Given the description of an element on the screen output the (x, y) to click on. 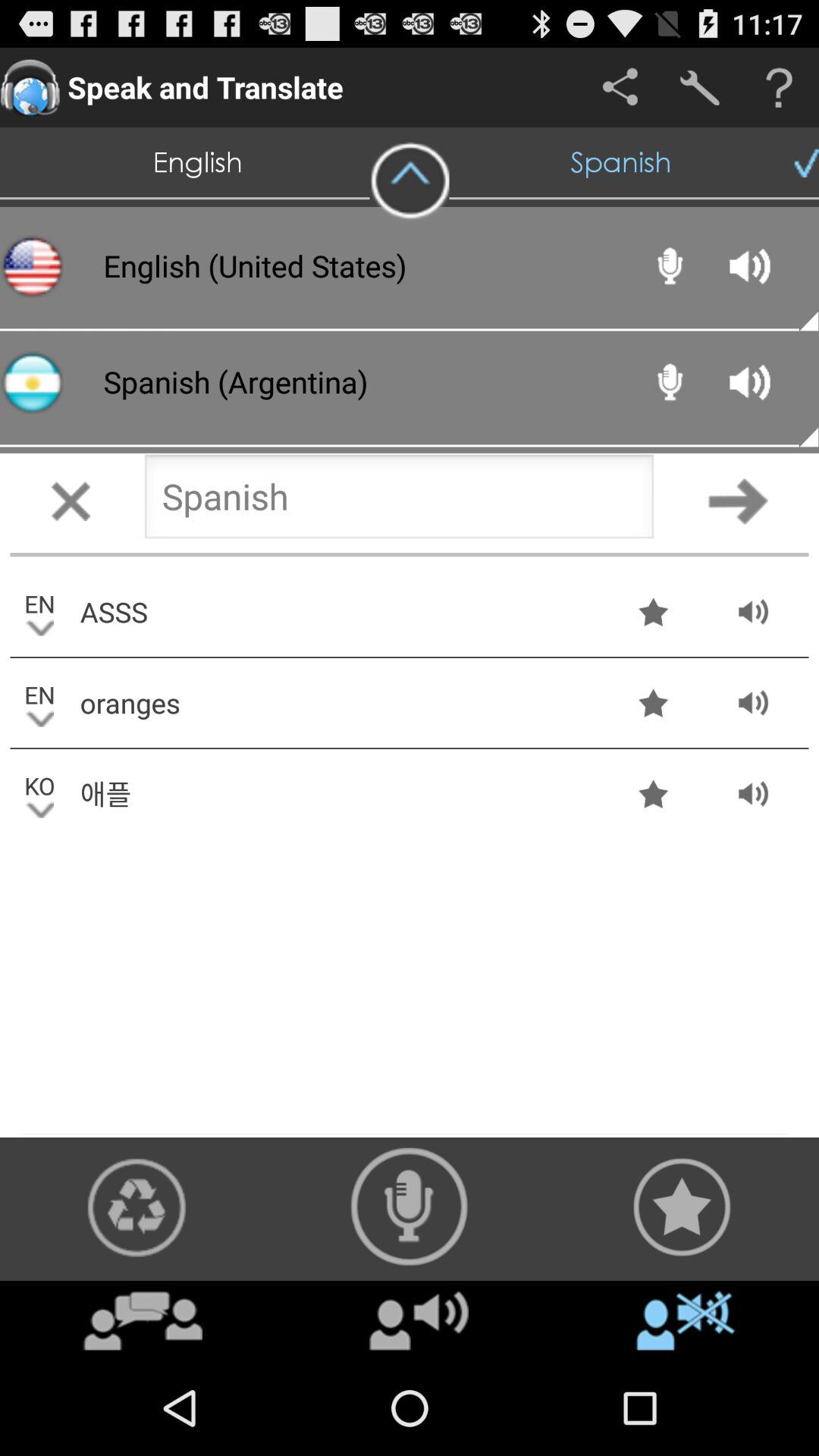
mic icon (409, 1206)
